Given the description of an element on the screen output the (x, y) to click on. 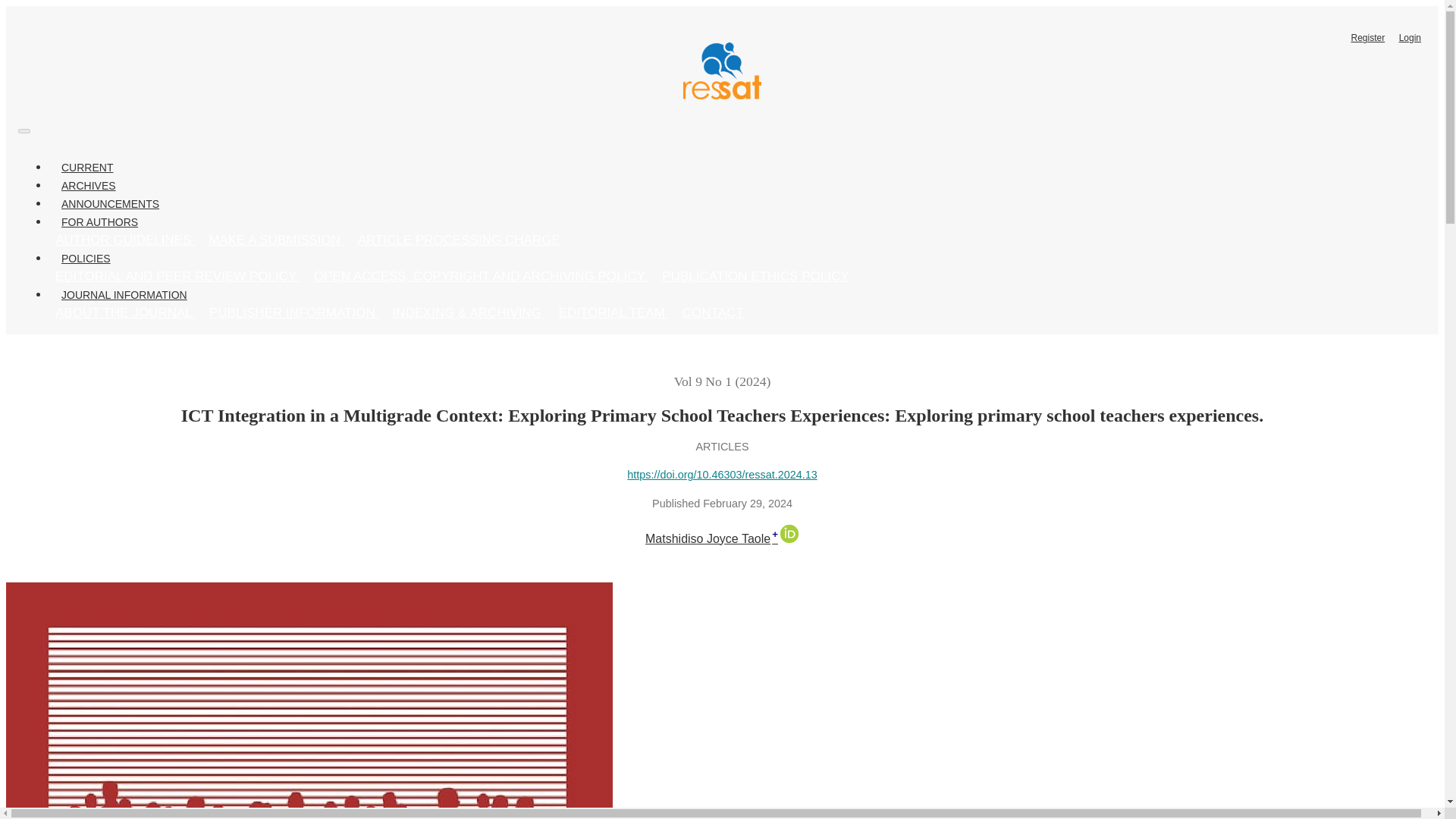
Register (1367, 37)
PUBLICATION ETHICS POLICY (755, 276)
POLICIES (85, 258)
EDITORIAL AND PEER REVIEW POLICY (177, 276)
FOR AUTHORS (99, 221)
MAKE A SUBMISSION (276, 239)
OPEN ACCESS, COPYRIGHT AND ARCHIVING POLICY (481, 276)
CURRENT (86, 167)
ARTICLE PROCESSING CHARGE (458, 239)
AUTHOR GUIDELINES (125, 239)
